Given the description of an element on the screen output the (x, y) to click on. 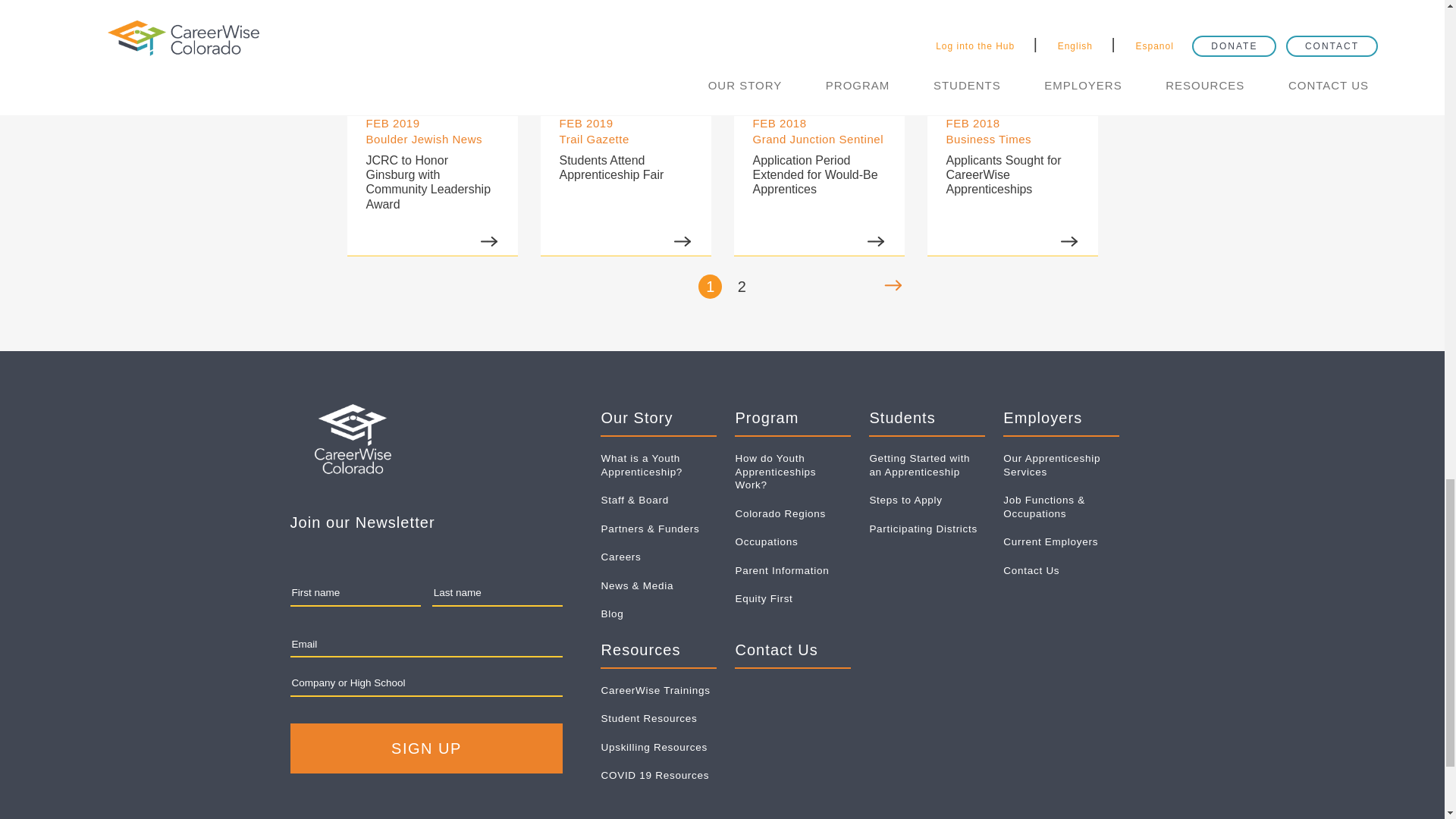
Sign Up (425, 748)
